Given the description of an element on the screen output the (x, y) to click on. 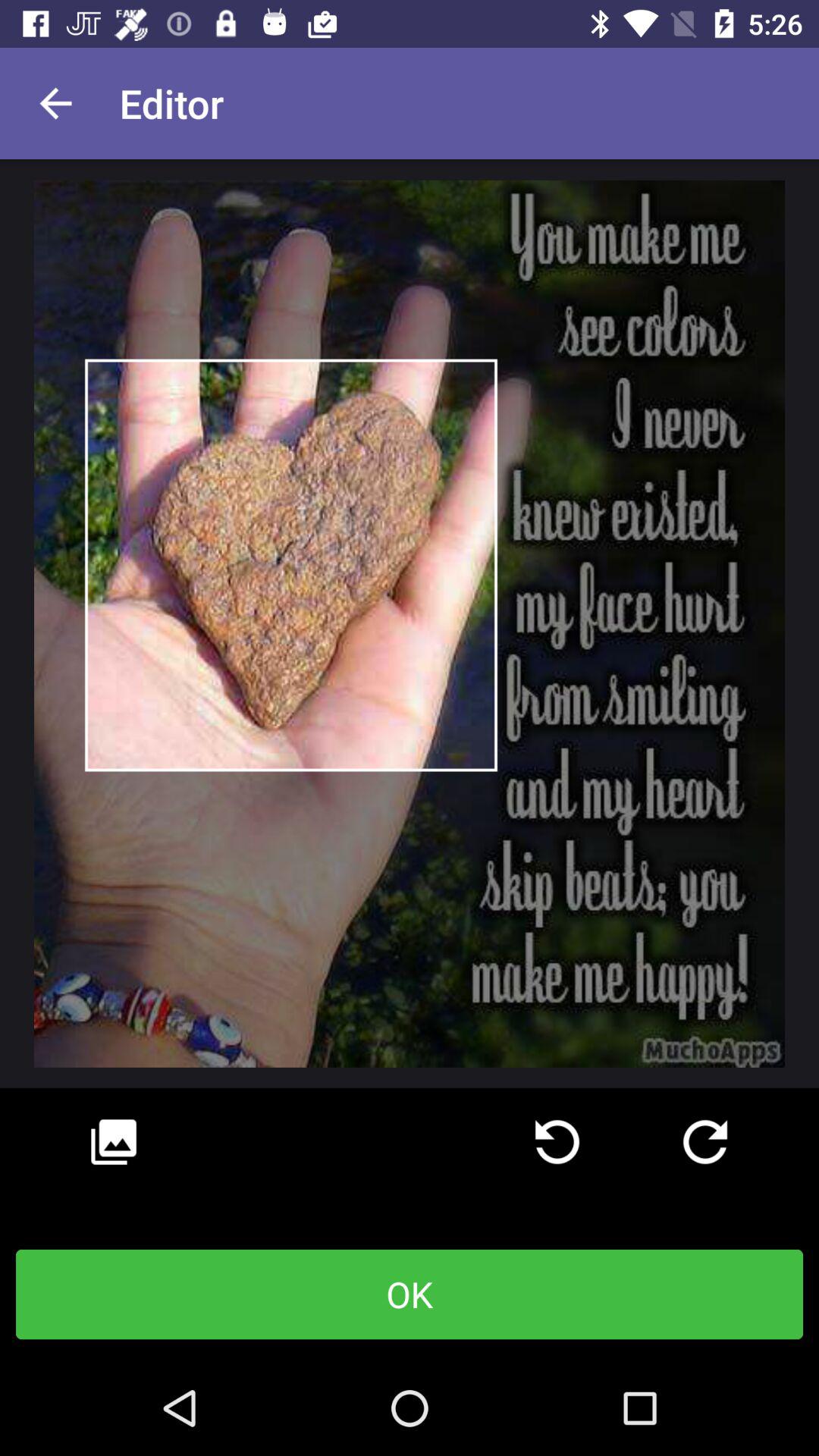
turn on icon at the bottom left corner (113, 1142)
